Given the description of an element on the screen output the (x, y) to click on. 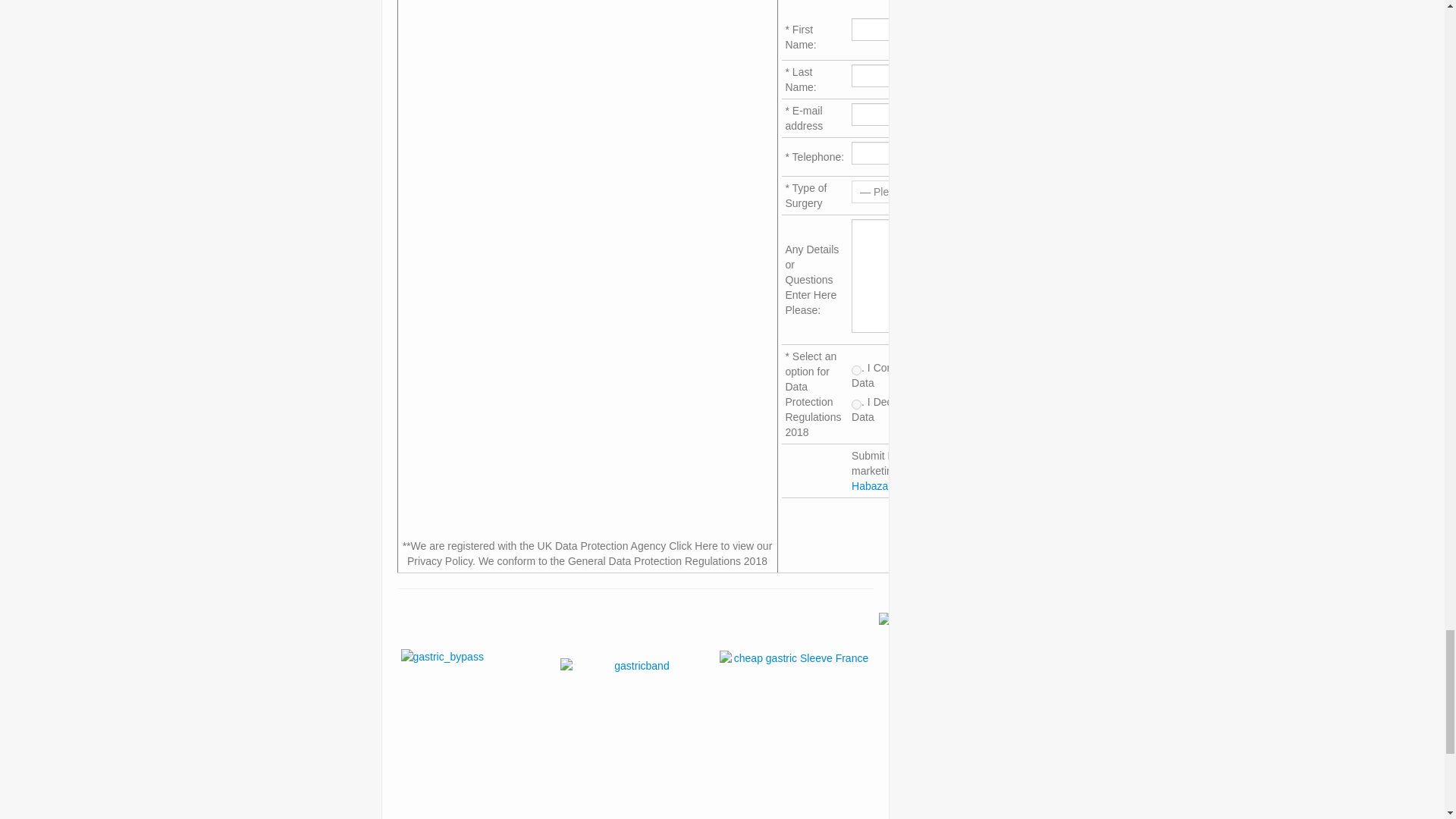
Accept data rules (856, 370)
Habazar.com (882, 485)
decline dats rules (856, 404)
